Given the description of an element on the screen output the (x, y) to click on. 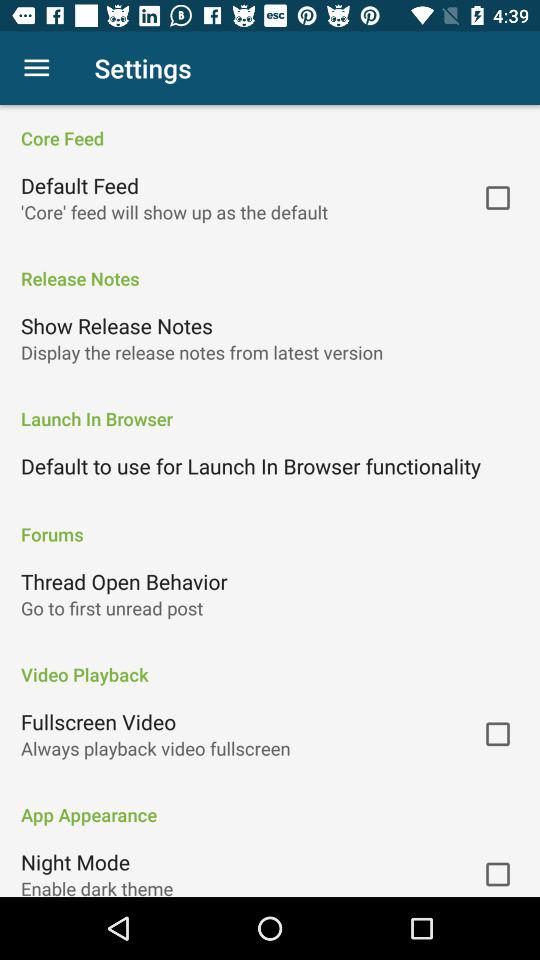
turn on item below night mode (97, 886)
